Given the description of an element on the screen output the (x, y) to click on. 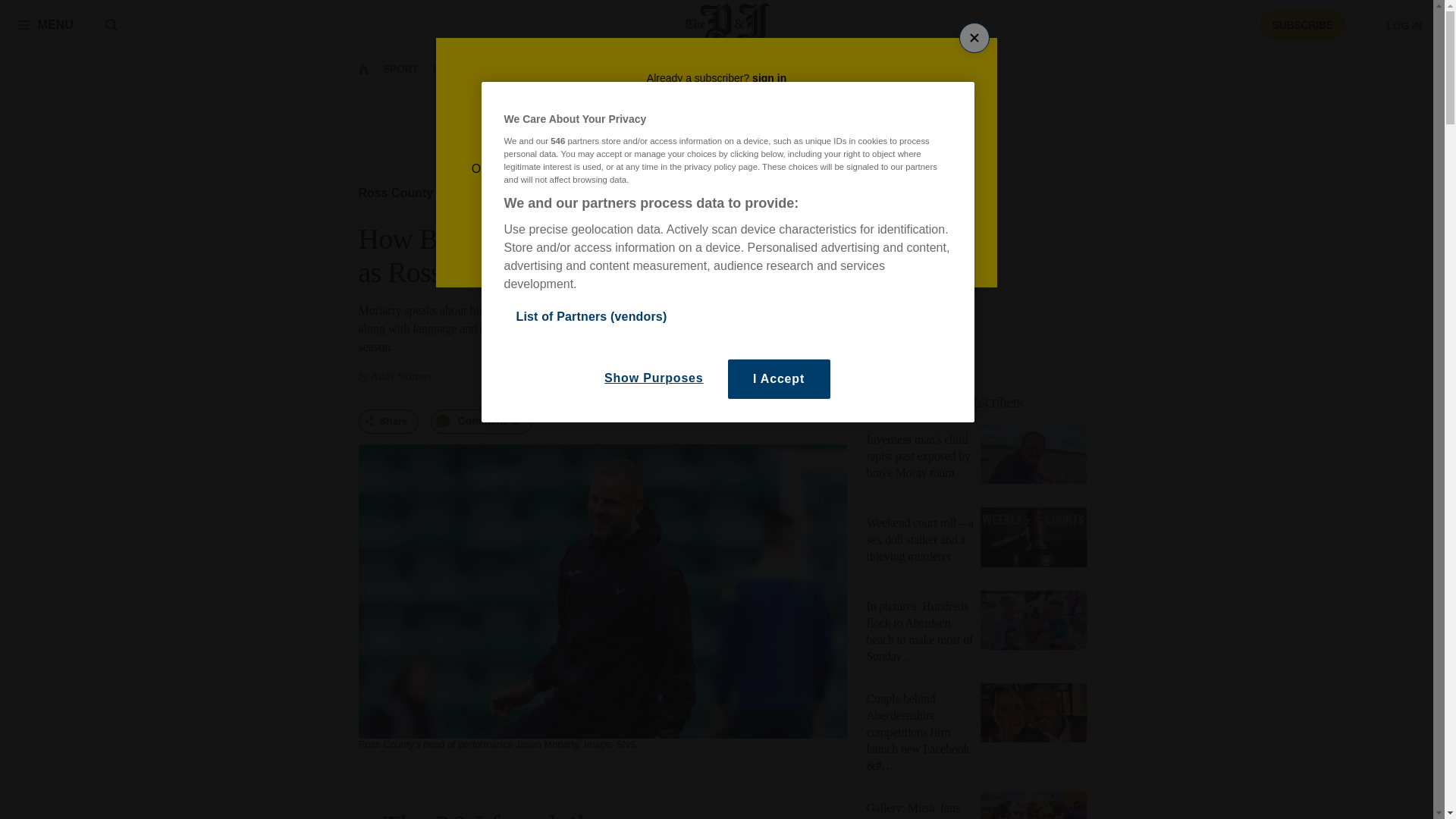
Inverness man's child rapist past exposed by brave Moray mum (1032, 456)
Press and Journal (727, 24)
MENU (44, 24)
Inverness man's child rapist past exposed by brave Moray mum (917, 456)
Exclusive to our subscribers (981, 402)
Exclusive to our subscribers (944, 402)
